Given the description of an element on the screen output the (x, y) to click on. 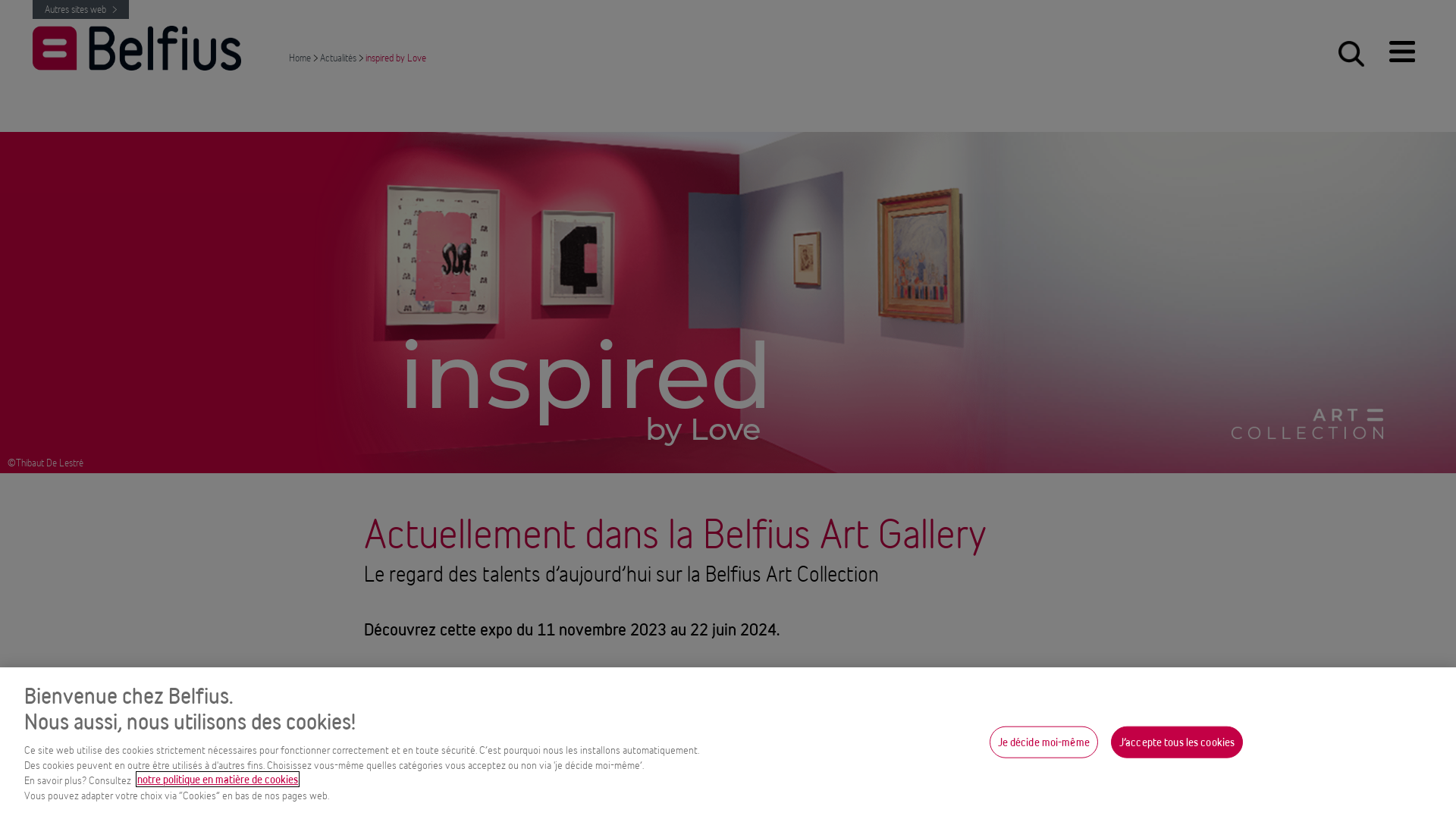
Home Element type: text (300, 56)
